Given the description of an element on the screen output the (x, y) to click on. 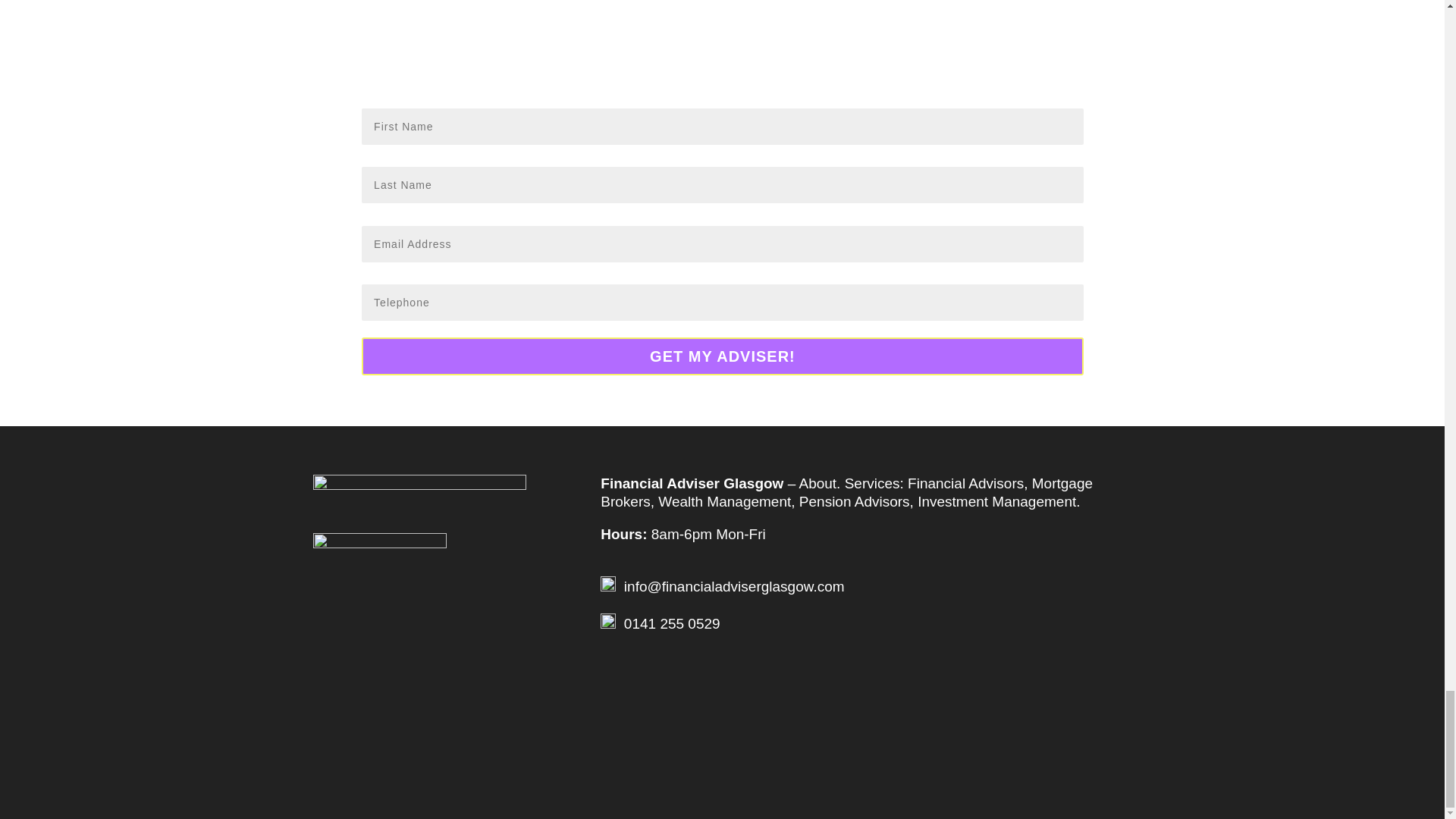
Only numbers allowed. (722, 302)
